Given the description of an element on the screen output the (x, y) to click on. 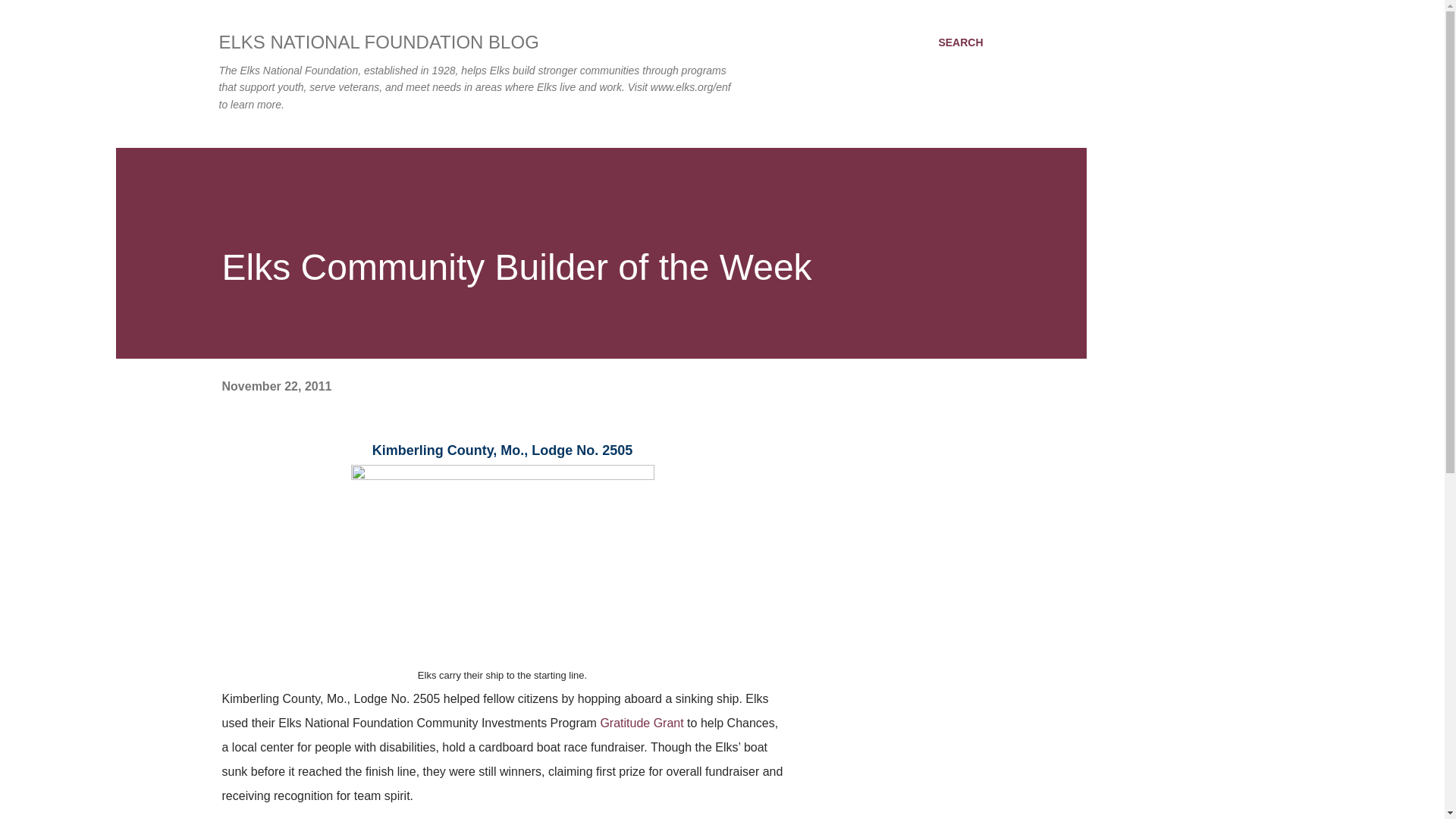
Gratitude Grant (640, 722)
SEARCH (959, 42)
ELKS NATIONAL FOUNDATION BLOG (378, 41)
permanent link (276, 386)
November 22, 2011 (276, 386)
